Given the description of an element on the screen output the (x, y) to click on. 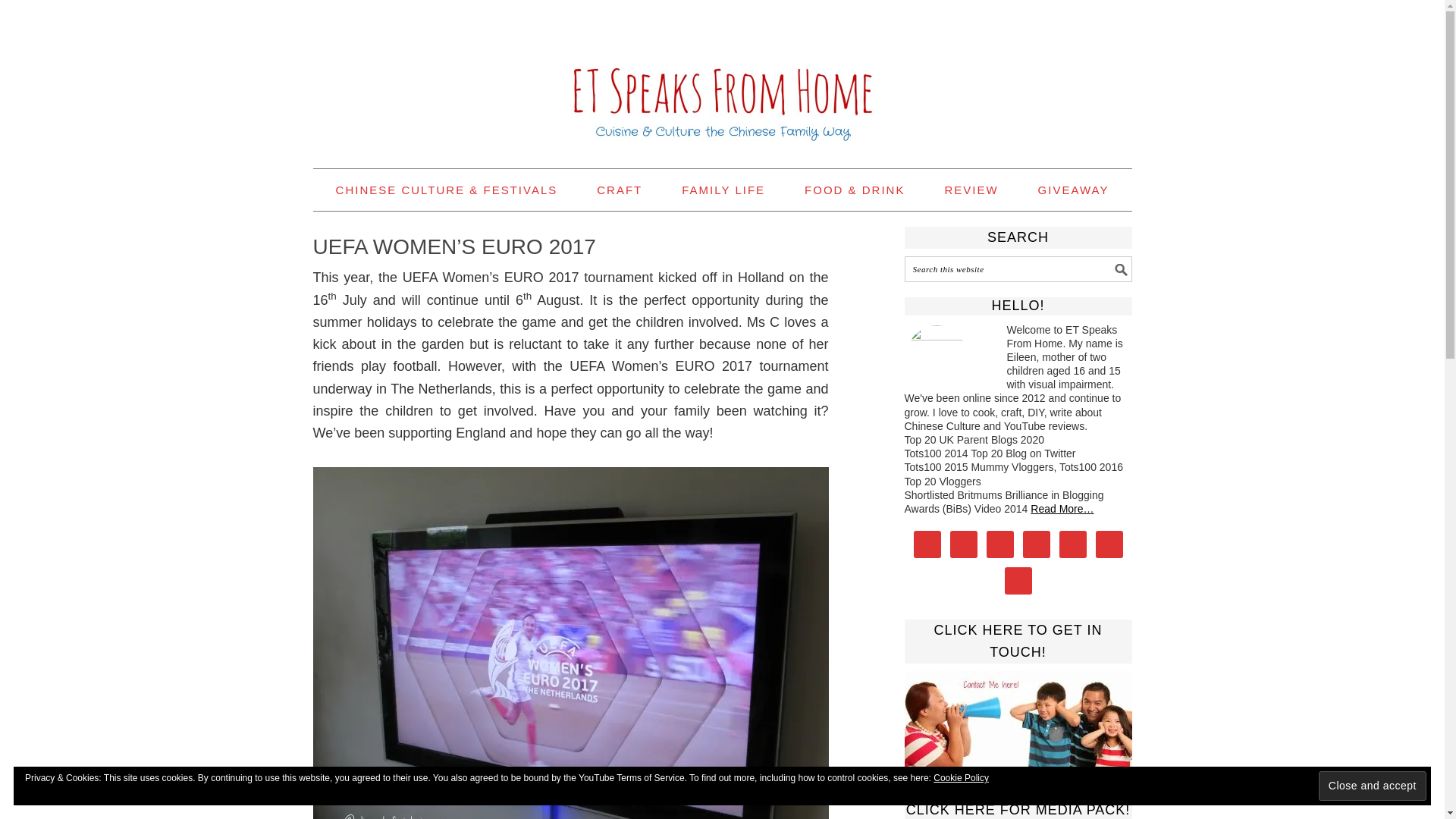
ET SPEAKS FROM HOME (722, 77)
CRAFT (619, 189)
FAMILY LIFE (723, 189)
Close and accept (1372, 785)
REVIEW (970, 189)
Click here to get in touch! (1017, 718)
